Given the description of an element on the screen output the (x, y) to click on. 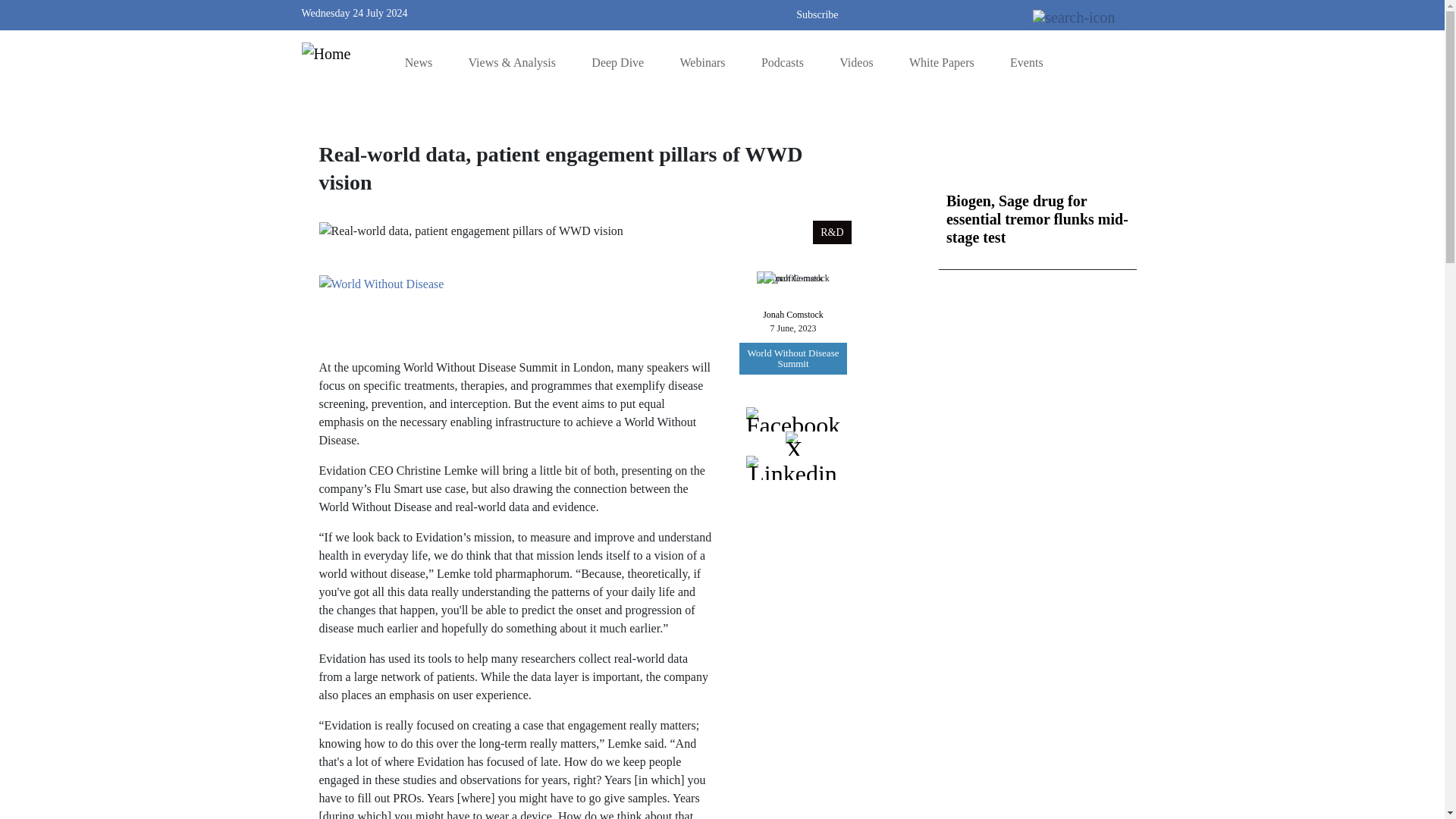
rss (642, 12)
linkedin (688, 12)
facebook (665, 12)
linkedin (688, 12)
X (711, 12)
Videos (855, 62)
Home (331, 52)
Subscribe (817, 14)
News (418, 62)
Events (1026, 62)
GO (1118, 13)
Webinars (703, 62)
White Papers (940, 62)
Deep Dive (617, 62)
